Given the description of an element on the screen output the (x, y) to click on. 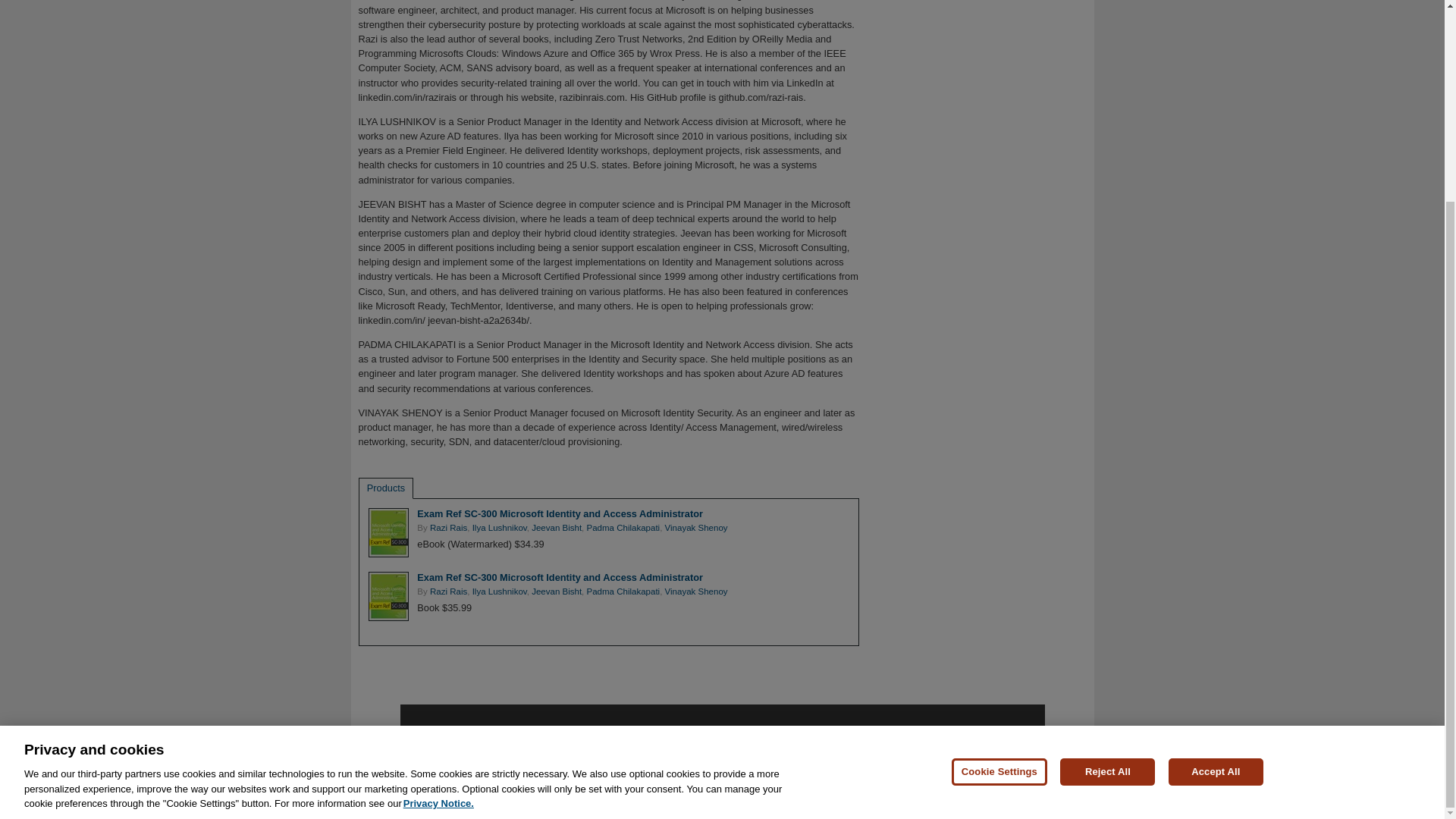
Vinayak Shenoy (696, 527)
Ilya Lushnikov (499, 527)
Jeevan Bisht (555, 591)
Products (386, 487)
Razi Rais (448, 527)
Exam Ref SC-300 Microsoft Identity and Access Administrator (559, 513)
Razi Rais (448, 591)
Exam Ref SC-300 Microsoft Identity and Access Administrator (559, 577)
Padma Chilakapati (623, 527)
Padma Chilakapati (623, 591)
Vinayak Shenoy (696, 591)
Jeevan Bisht (555, 527)
Ilya Lushnikov (499, 591)
